Given the description of an element on the screen output the (x, y) to click on. 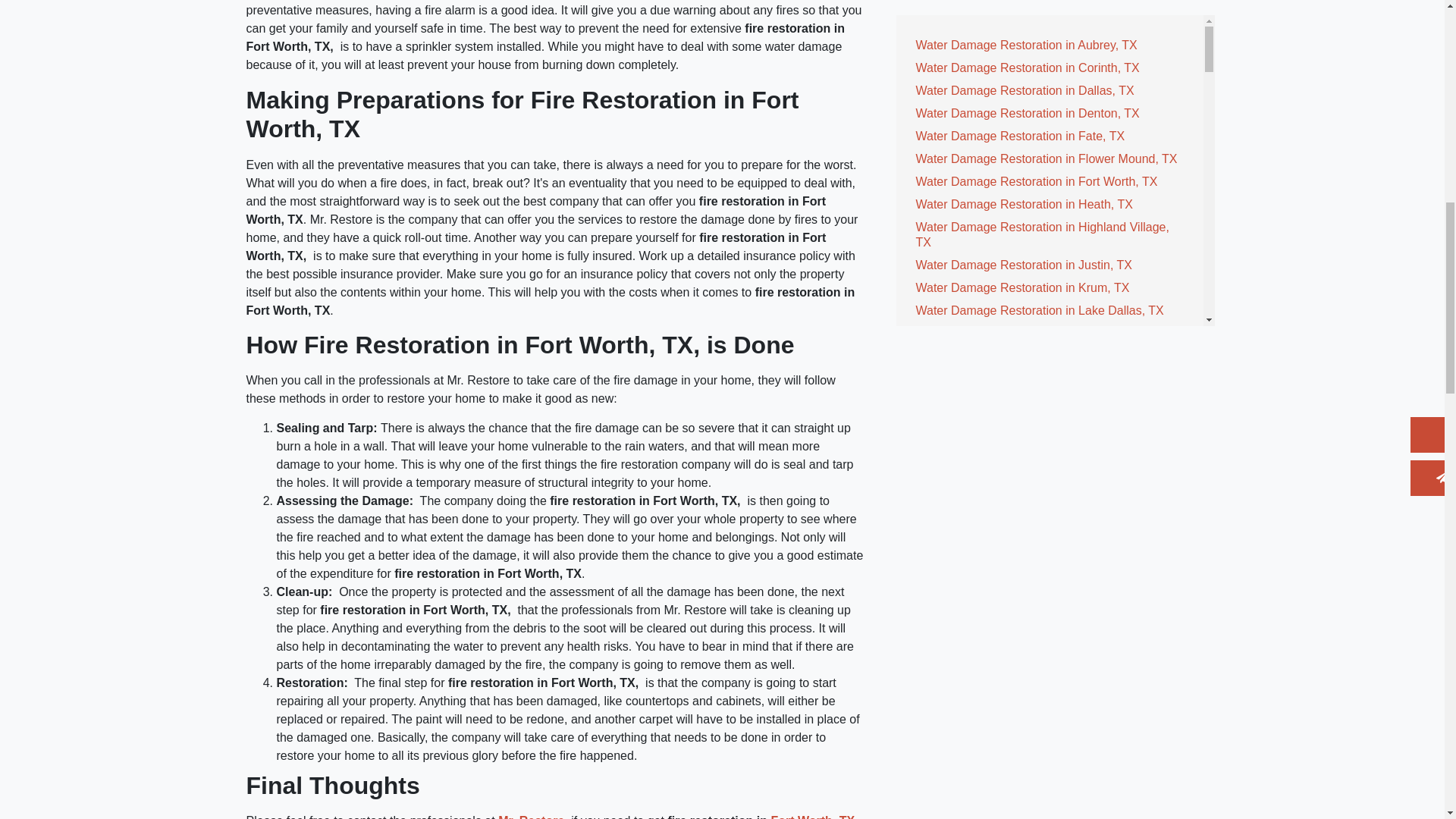
Mr. Restore Website (530, 816)
For Worth, TX Website (812, 816)
